Given the description of an element on the screen output the (x, y) to click on. 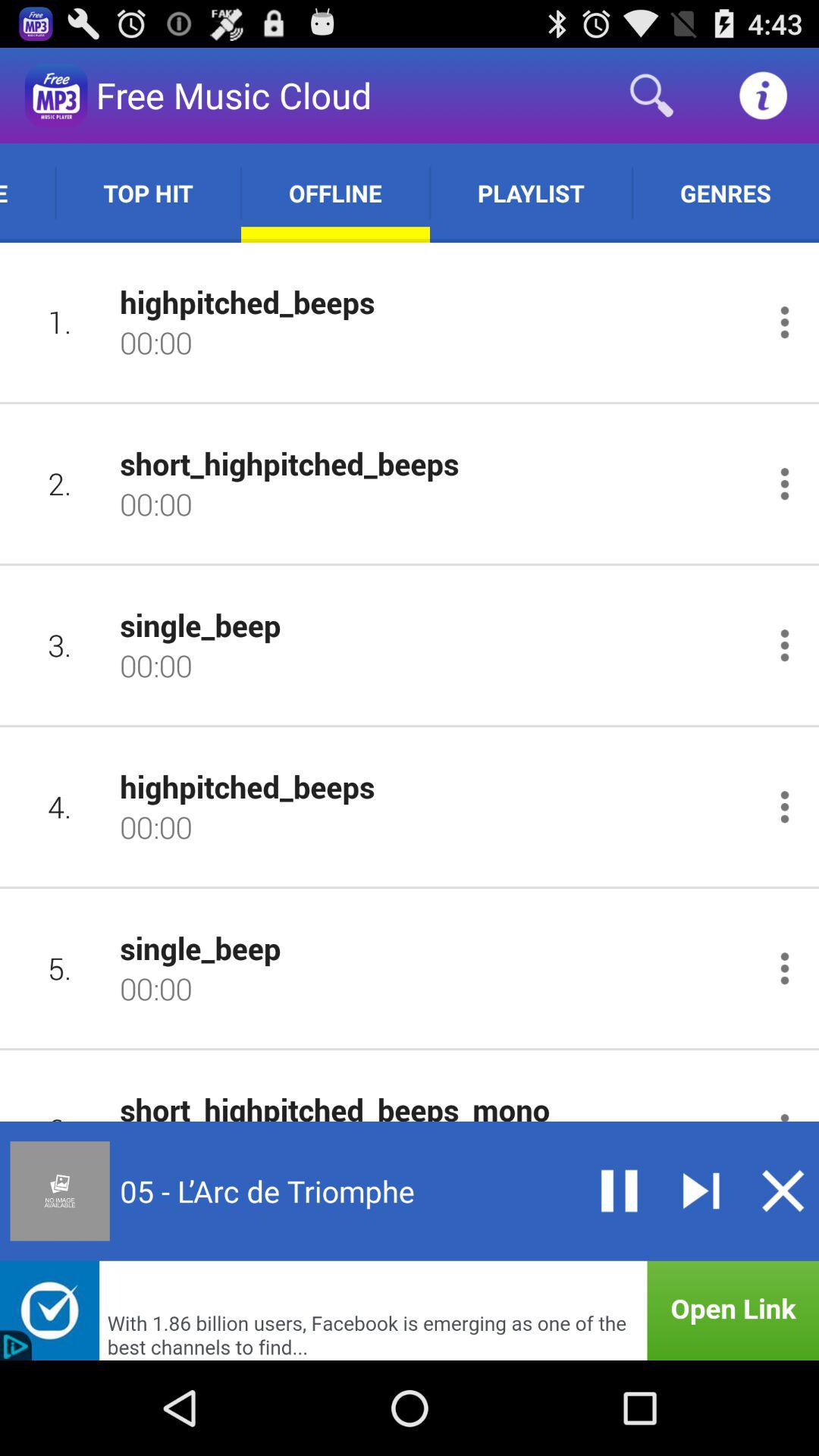
launch the icon below the 4. icon (59, 968)
